Given the description of an element on the screen output the (x, y) to click on. 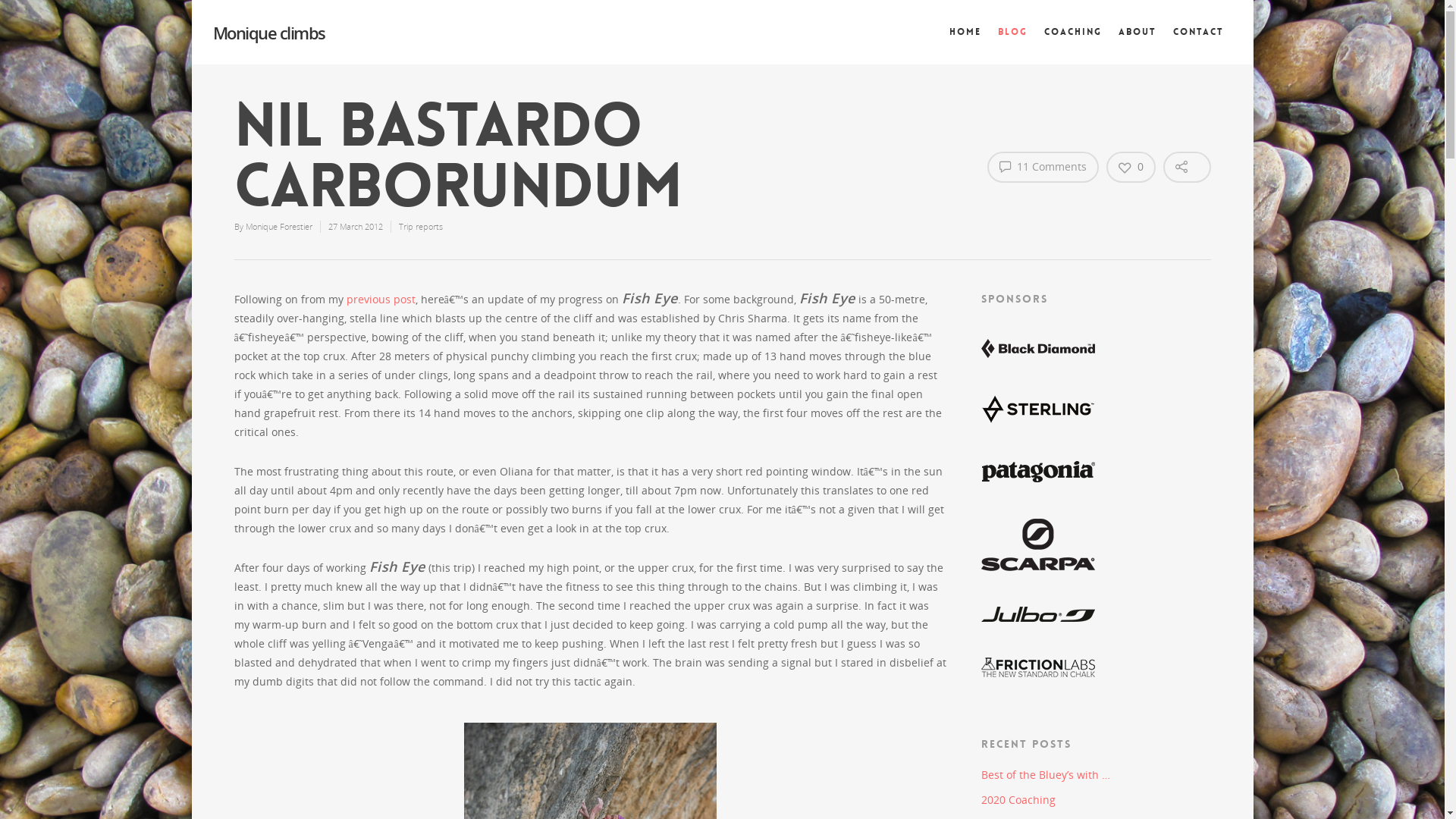
About Element type: text (1136, 42)
Coaching Element type: text (1071, 42)
Home Element type: text (964, 42)
Blog Element type: text (1012, 42)
Trip reports Element type: text (420, 226)
Contact Element type: text (1197, 42)
Monique Forestier Element type: text (278, 226)
11 Comments Element type: text (1042, 166)
2020 Coaching Element type: text (1096, 799)
Monique climbs Element type: text (268, 32)
0 Element type: text (1130, 166)
previous post Element type: text (379, 298)
